Given the description of an element on the screen output the (x, y) to click on. 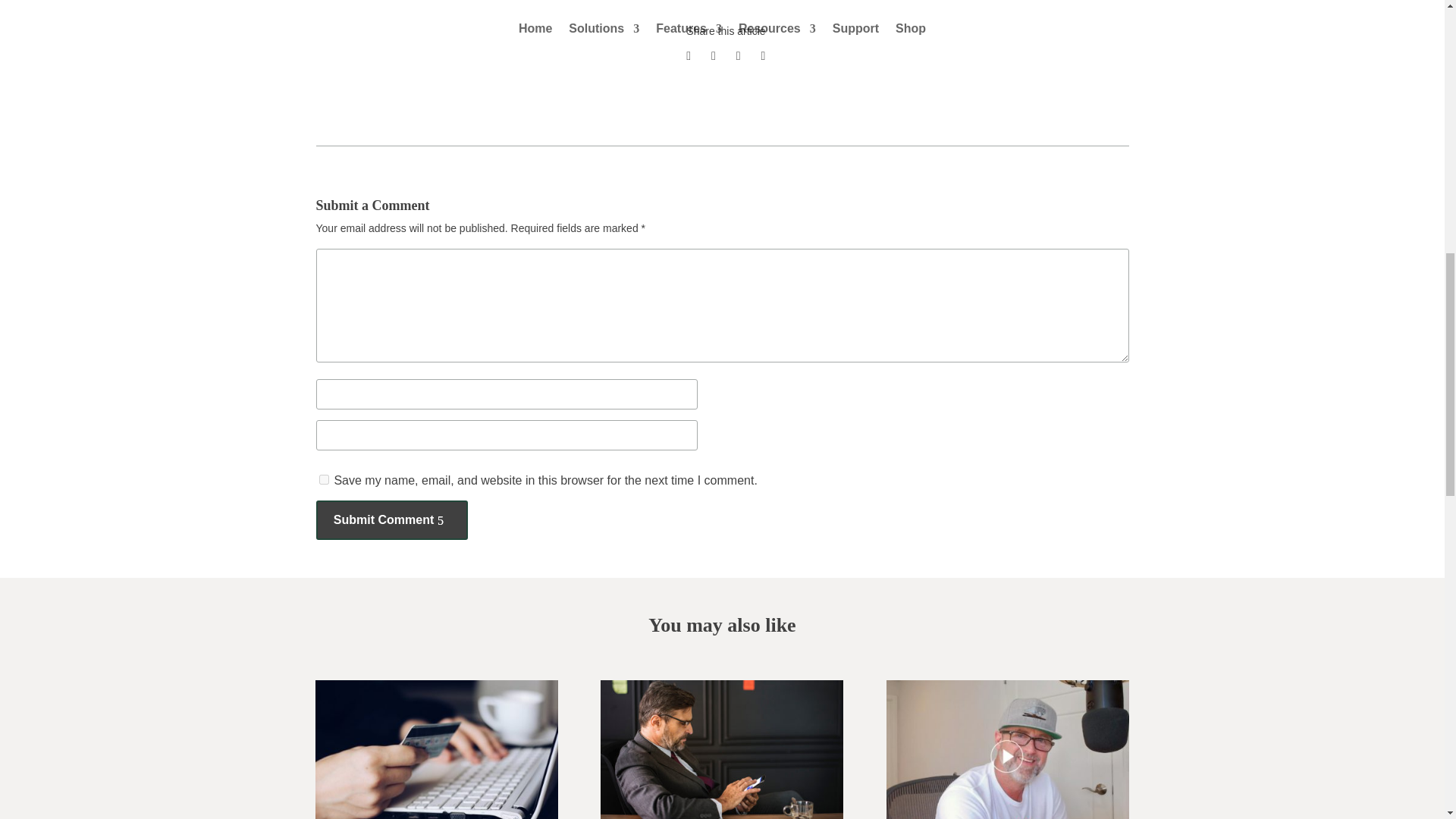
yes (323, 479)
